Given the description of an element on the screen output the (x, y) to click on. 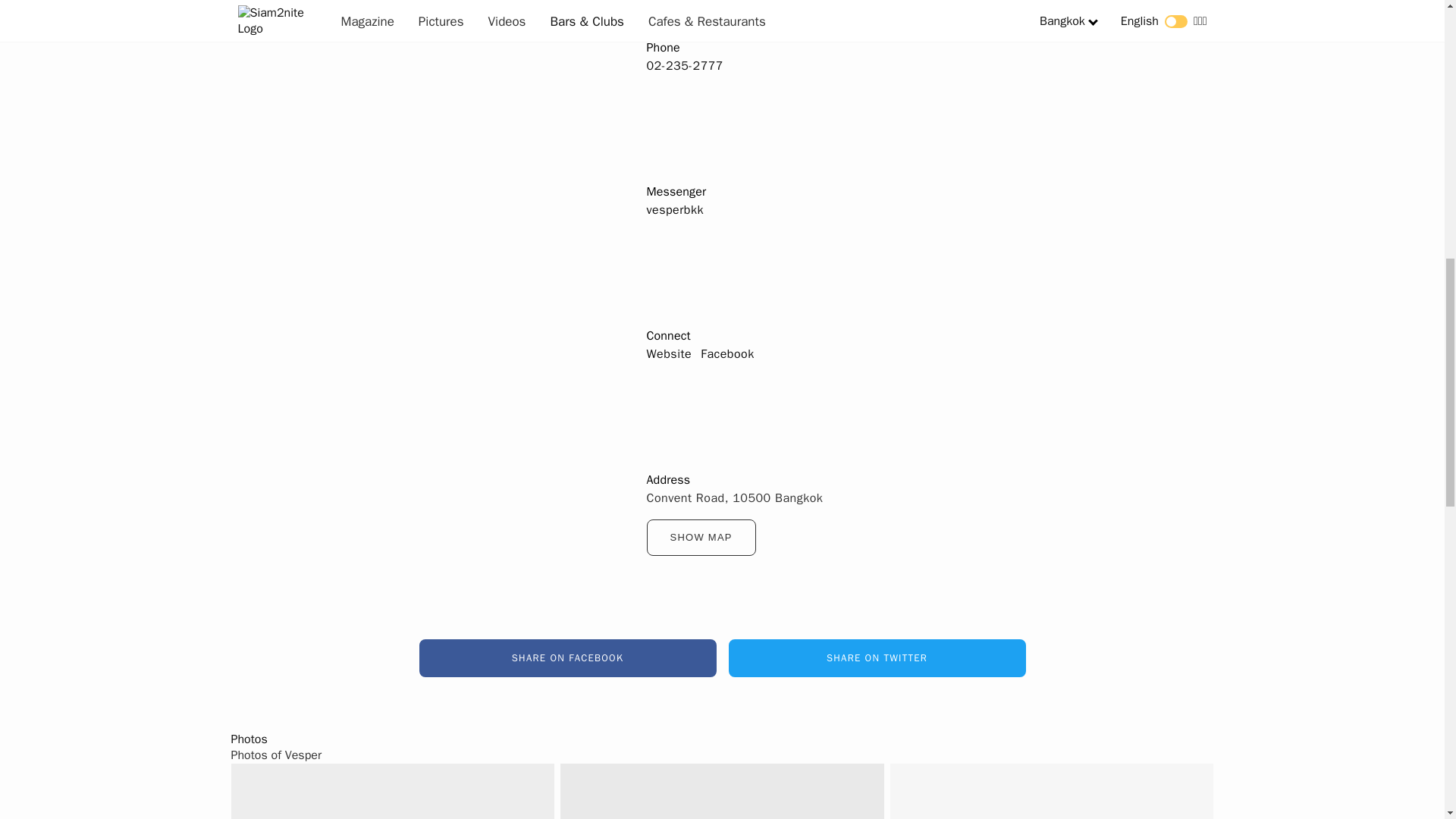
02-235-2777 (684, 65)
SHARE ON TWITTER (876, 658)
Facebook (727, 353)
SHOW MAP (700, 537)
vesperbkk (674, 209)
SHARE ON FACEBOOK (567, 658)
Website (668, 353)
